Given the description of an element on the screen output the (x, y) to click on. 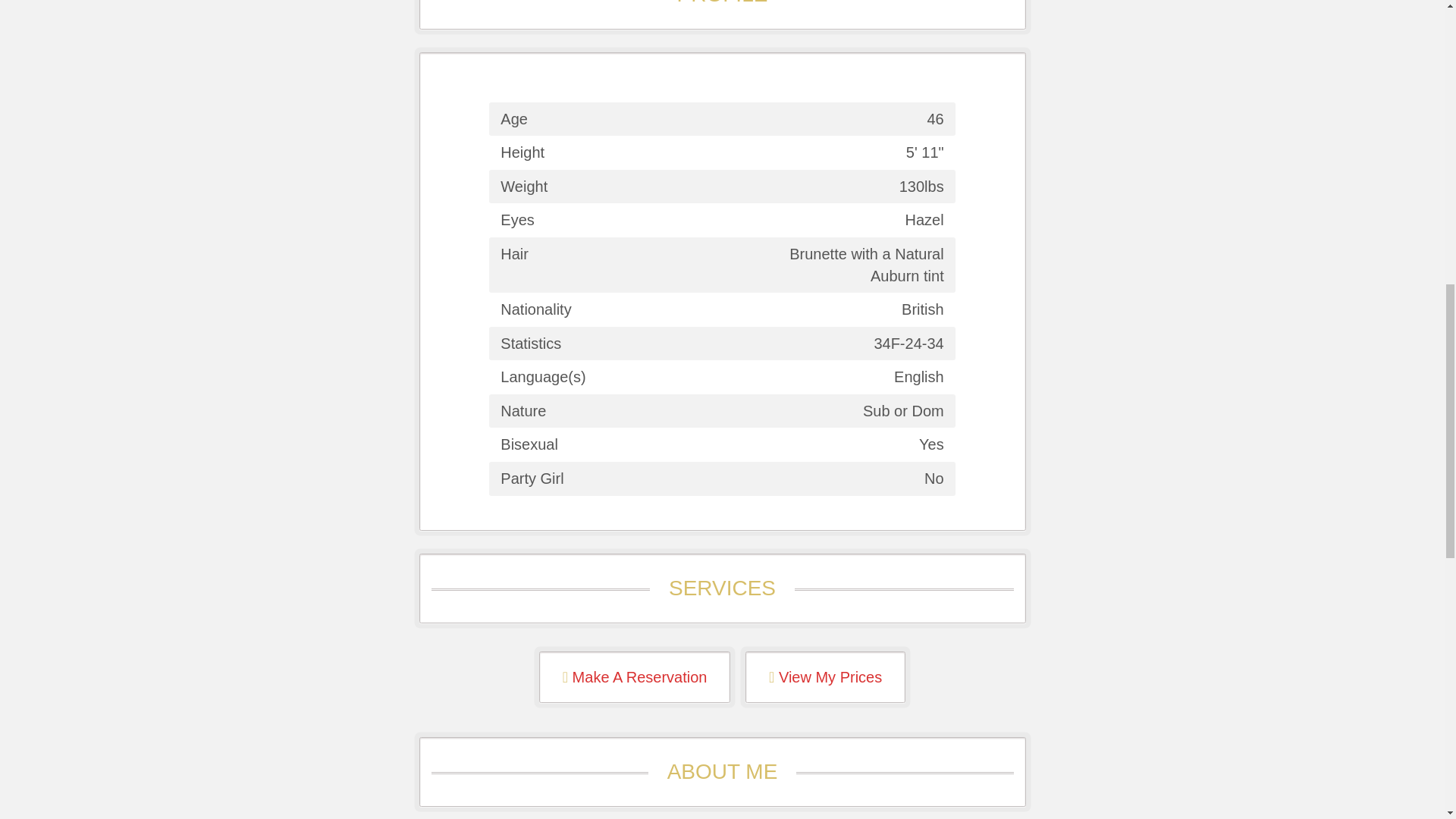
Make A Reservation (635, 676)
View My Prices (825, 676)
